Given the description of an element on the screen output the (x, y) to click on. 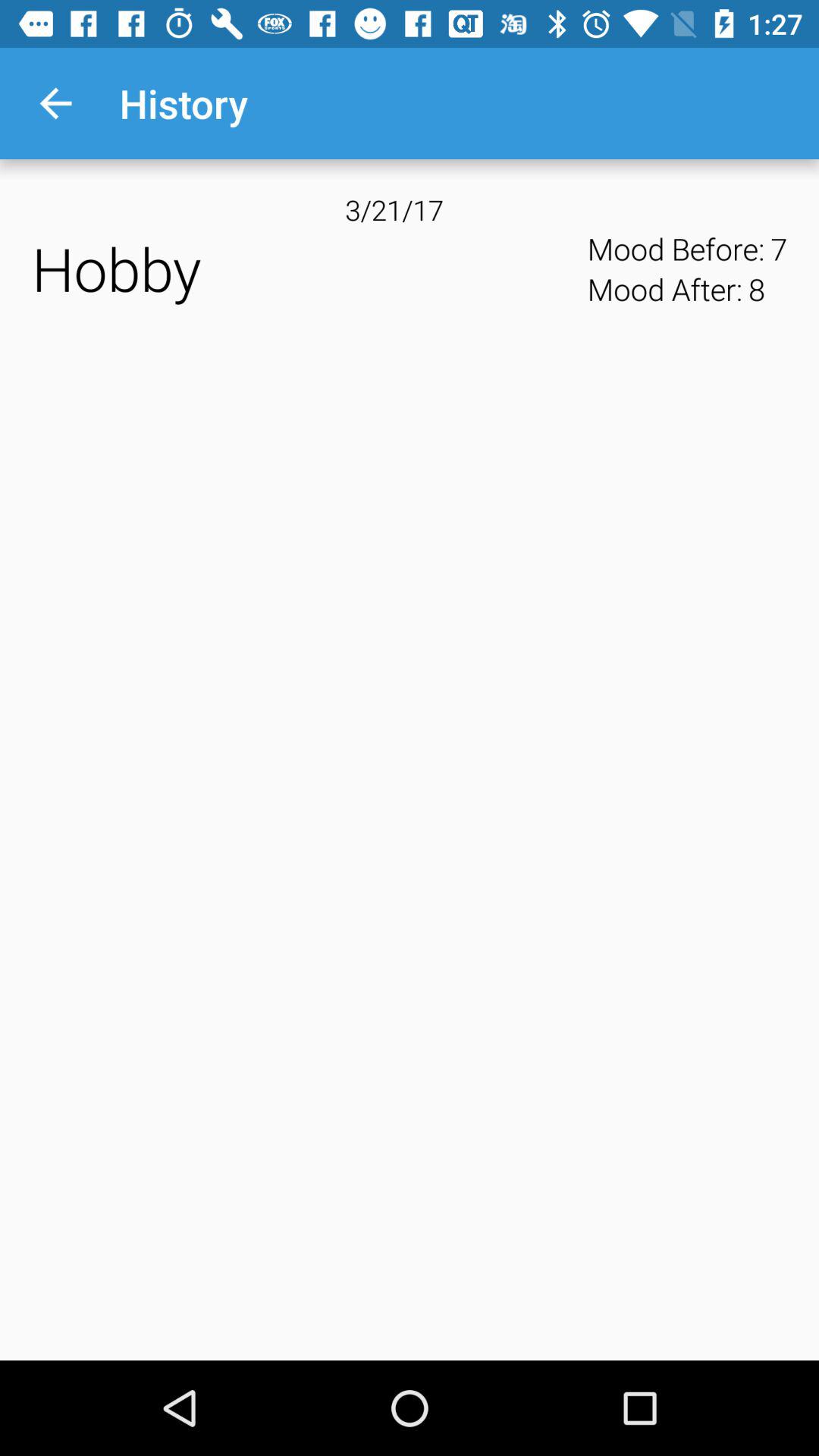
turn on hobby app (304, 268)
